Given the description of an element on the screen output the (x, y) to click on. 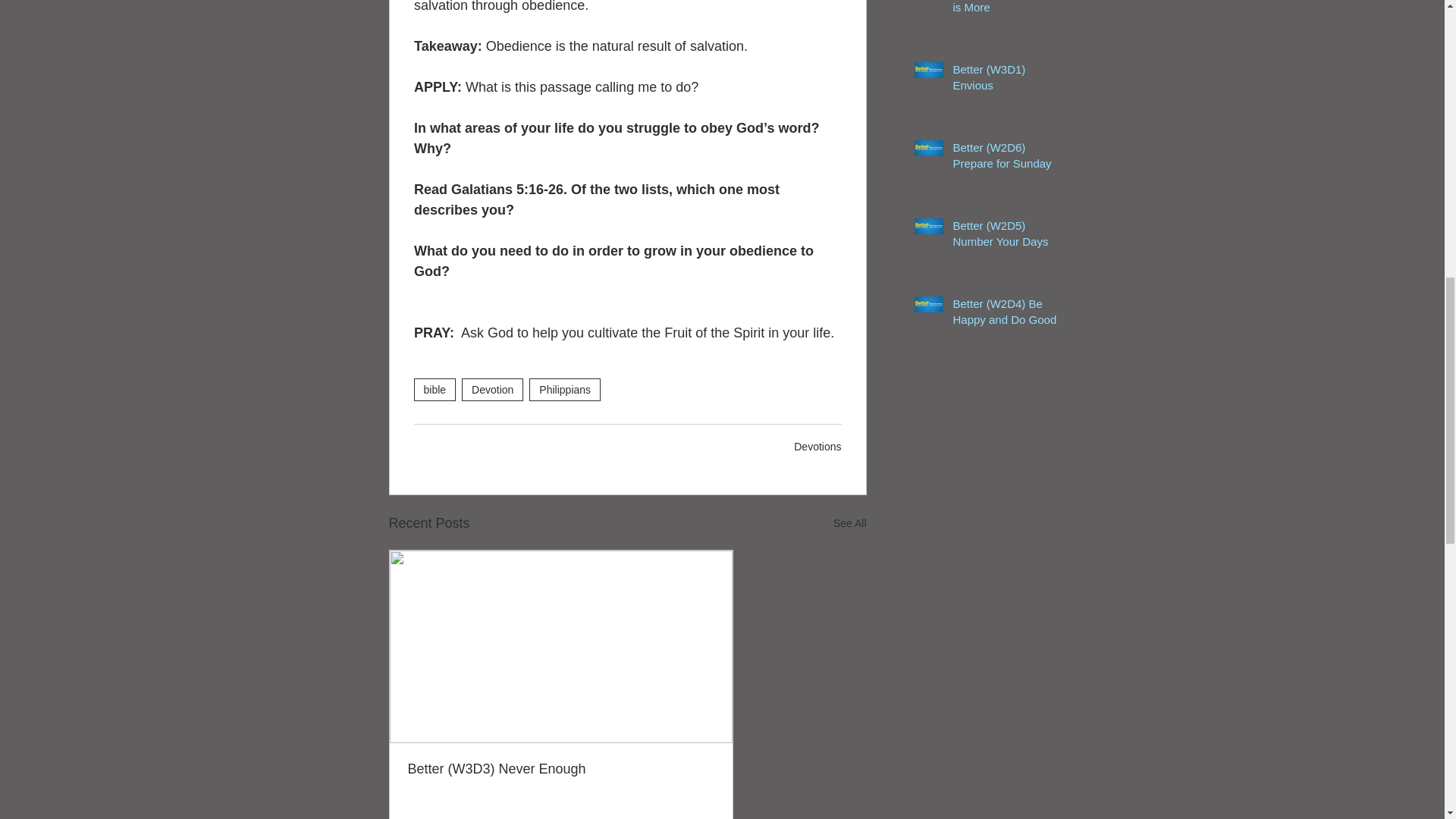
Devotions (817, 446)
bible (435, 389)
Devotion (491, 389)
Philippians (564, 389)
See All (849, 523)
